Given the description of an element on the screen output the (x, y) to click on. 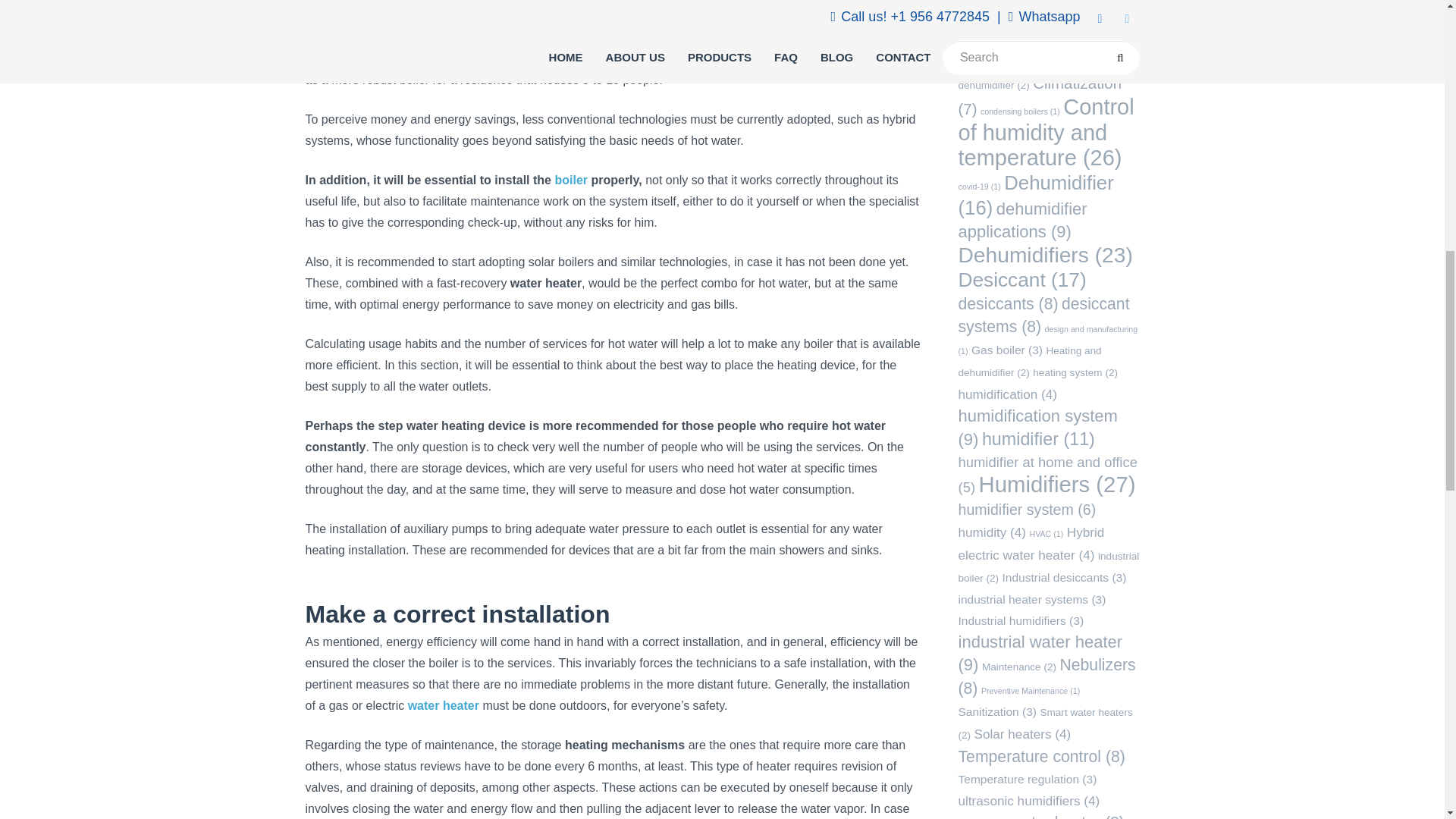
water heater (445, 705)
boiler (571, 179)
water heater (597, 37)
Back to top (1408, 21)
